Given the description of an element on the screen output the (x, y) to click on. 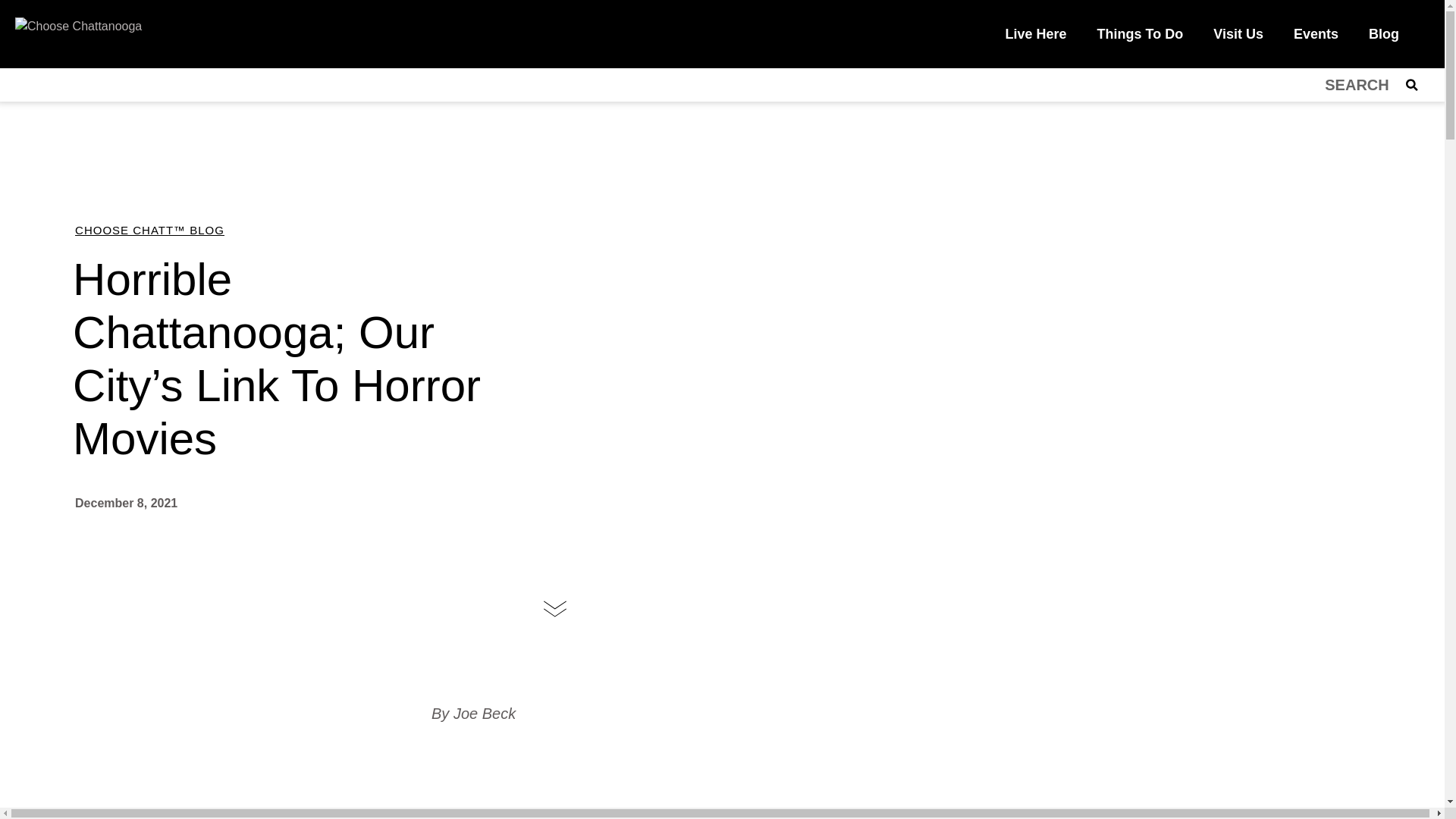
Live Here (1035, 33)
Things To Do (1139, 33)
